Given the description of an element on the screen output the (x, y) to click on. 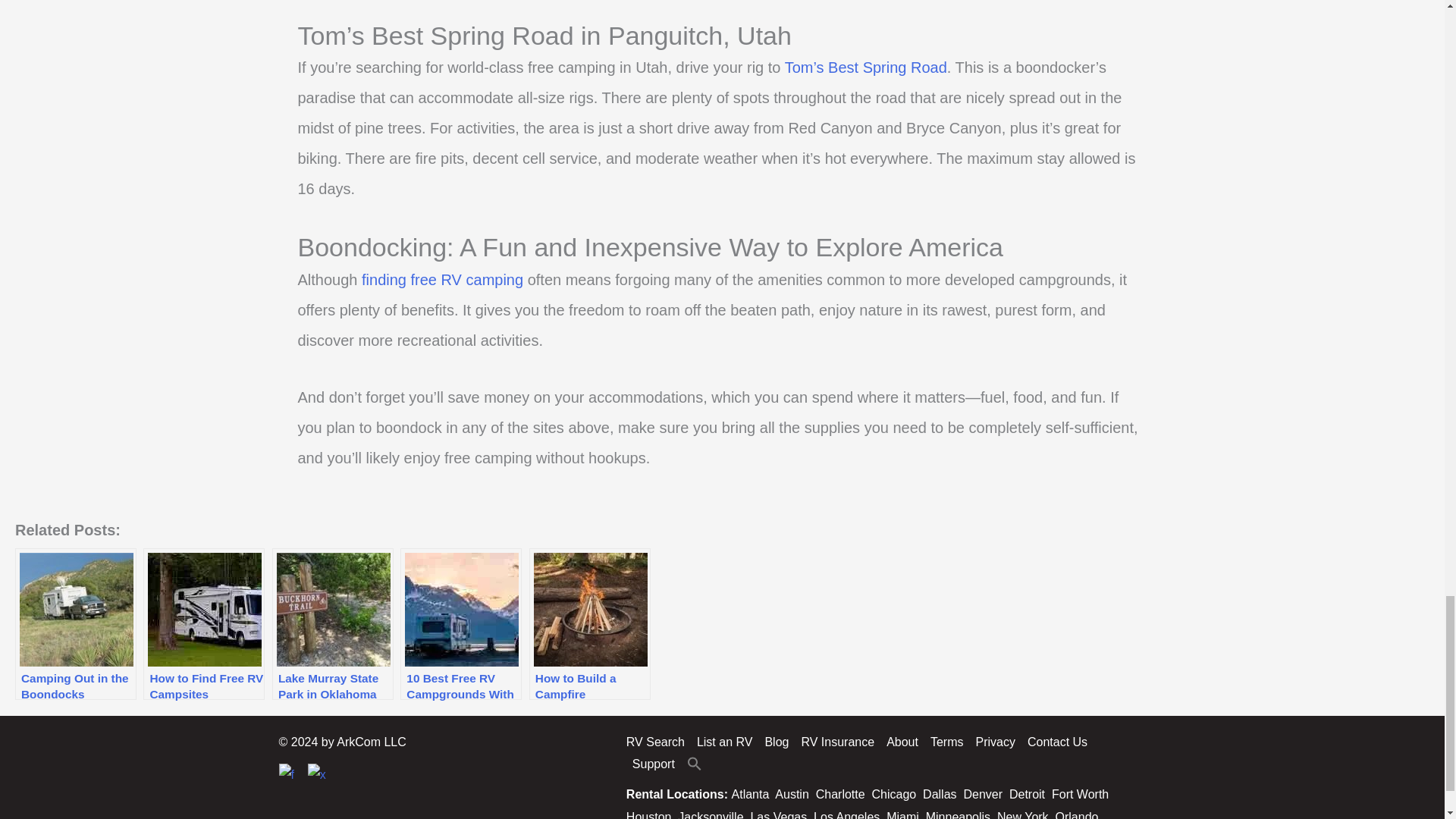
Las Vegas RV Rental (777, 814)
Denver RV Rental (982, 793)
Atlanta RV Rental (751, 793)
RV Search (658, 742)
About (902, 742)
Blog (776, 742)
Chicago RV Rental (894, 793)
RV Insurance (837, 742)
Privacy (994, 742)
Dallas RV Rental (939, 793)
List an RV (724, 742)
Austin RV Rental (791, 793)
Charlotte RV Rental (839, 793)
Houston RV Rental (648, 814)
Detroit RV Rental (1027, 793)
